Given the description of an element on the screen output the (x, y) to click on. 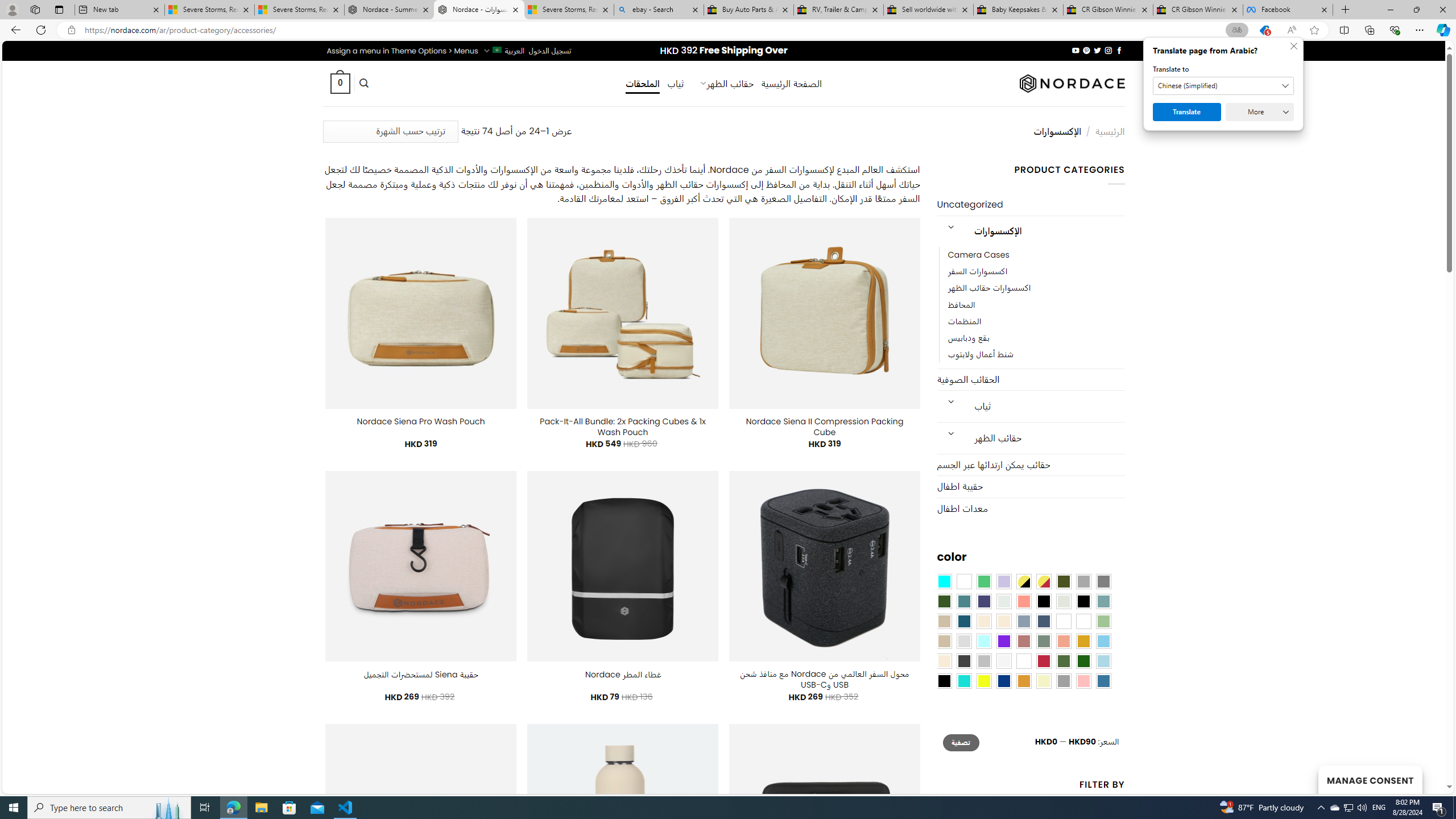
Light-Gray (963, 640)
Dusty Blue (1023, 621)
Mint (983, 640)
